Given the description of an element on the screen output the (x, y) to click on. 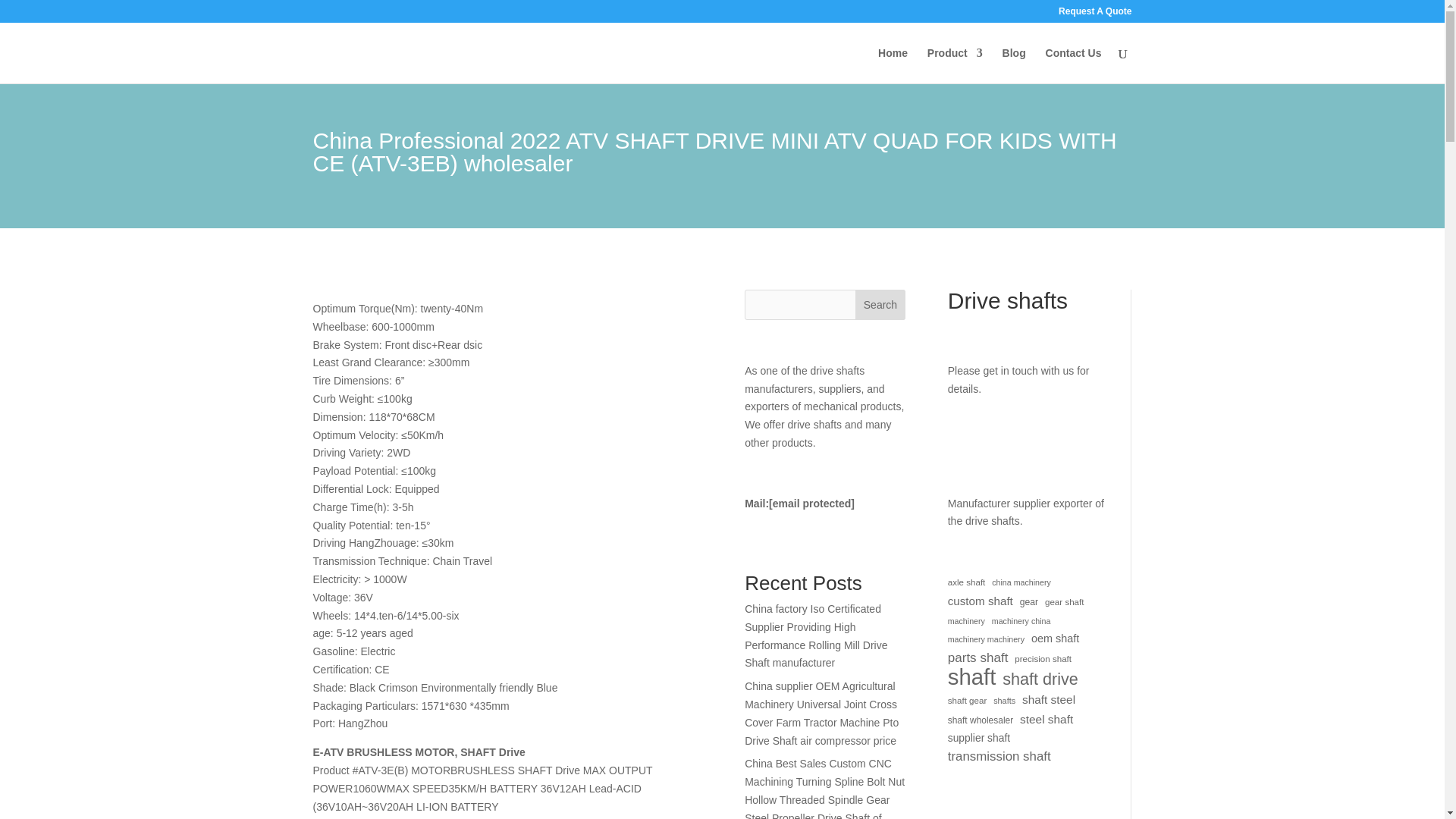
Product (954, 65)
Contact Us (1073, 65)
Search (880, 304)
Request A Quote (1094, 14)
